Given the description of an element on the screen output the (x, y) to click on. 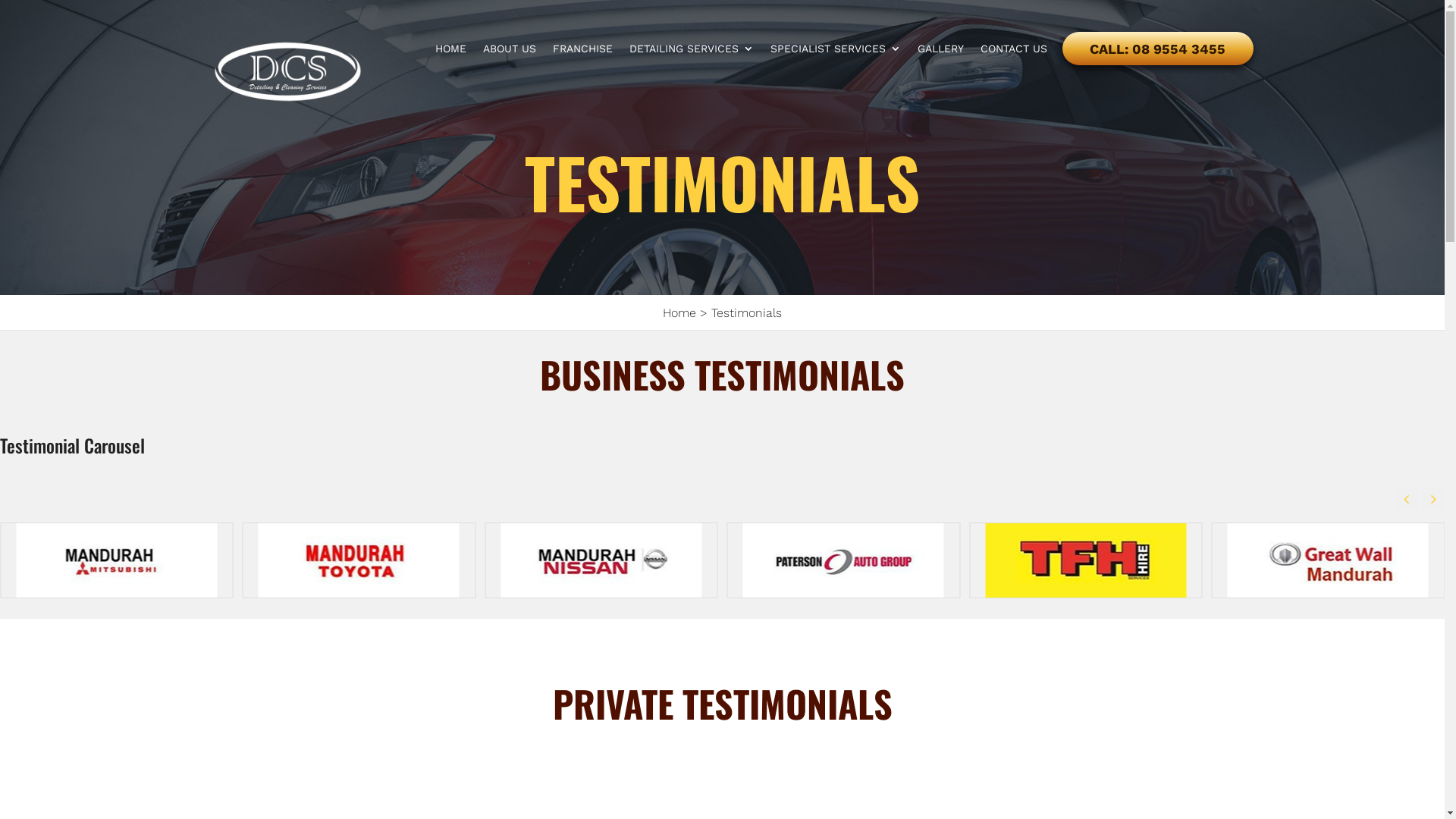
SPECIALIST SERVICES Element type: text (835, 82)
DETAILING SERVICES Element type: text (691, 82)
Home Element type: text (679, 312)
ABOUT US Element type: text (508, 82)
HOME Element type: text (450, 82)
CALL: 08 9554 3455 Element type: text (1156, 48)
GALLERY Element type: text (940, 82)
CONTACT US Element type: text (1012, 82)
FRANCHISE Element type: text (581, 82)
